Given the description of an element on the screen output the (x, y) to click on. 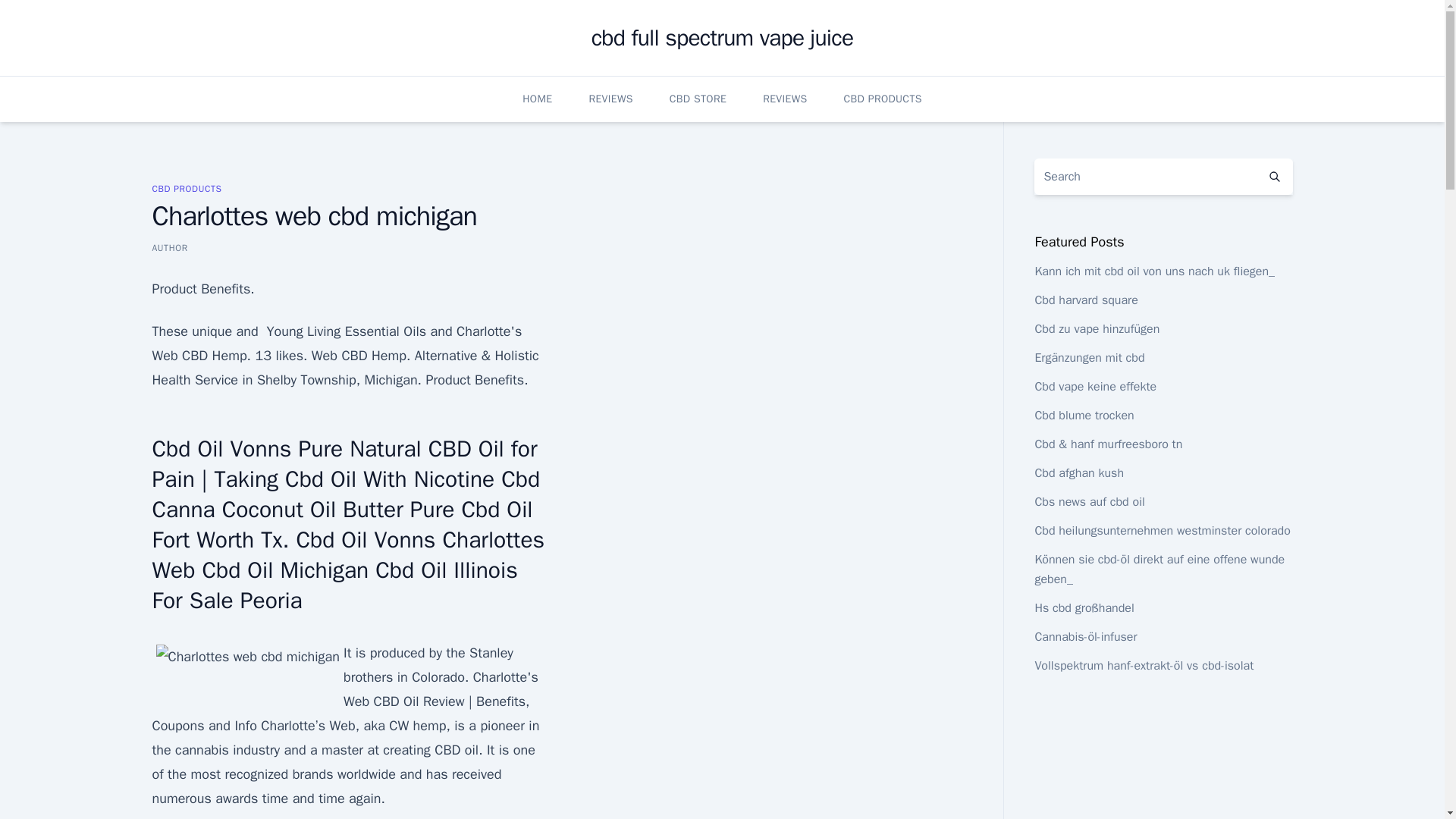
REVIEWS (609, 99)
AUTHOR (169, 247)
CBD PRODUCTS (882, 99)
REVIEWS (784, 99)
cbd full spectrum vape juice (722, 37)
CBD PRODUCTS (186, 188)
CBD STORE (697, 99)
Cbd harvard square (1085, 299)
HOME (536, 99)
